Given the description of an element on the screen output the (x, y) to click on. 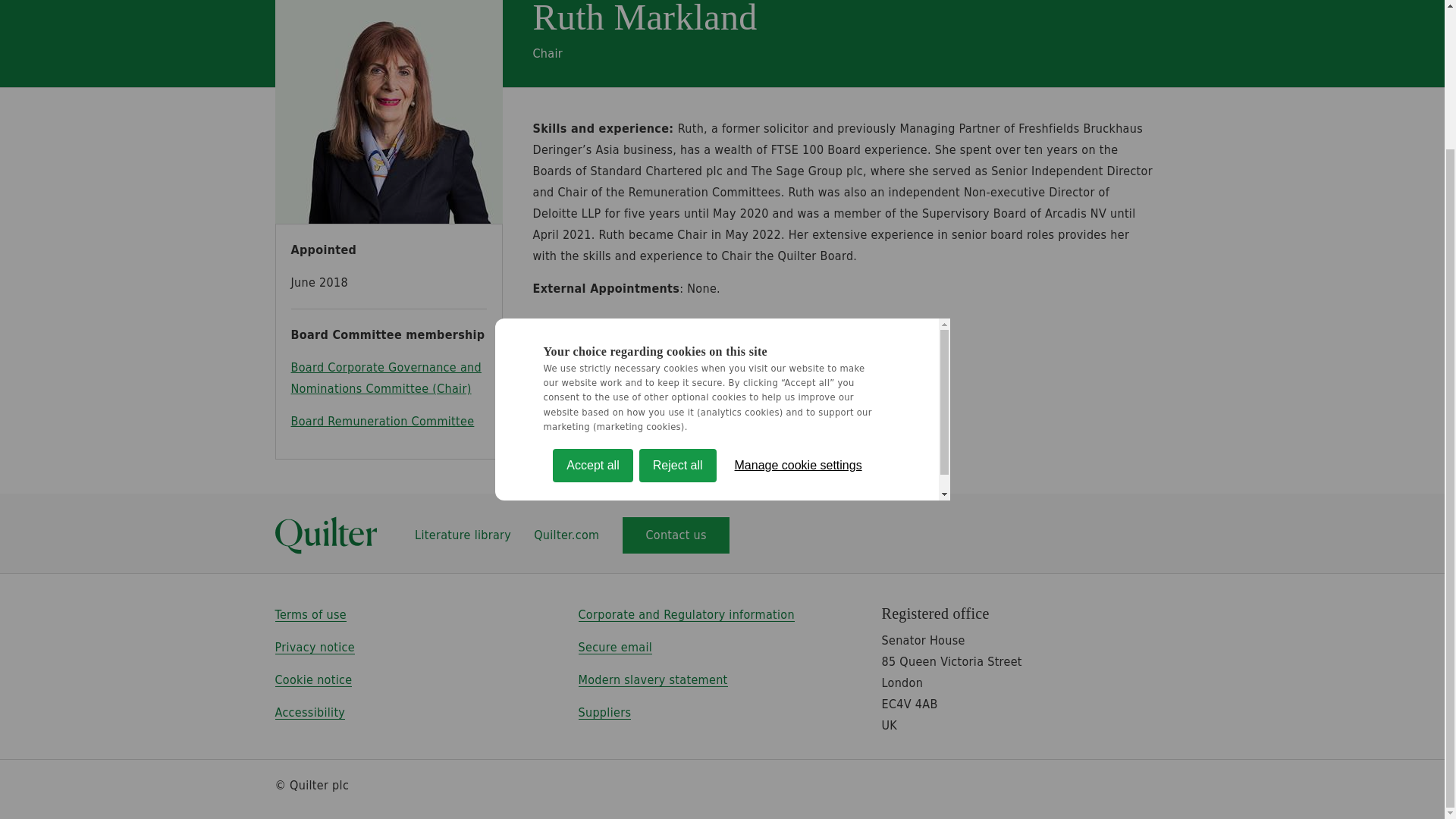
Accept all (592, 560)
Reject all (677, 539)
Manage cookie settings (798, 530)
